Given the description of an element on the screen output the (x, y) to click on. 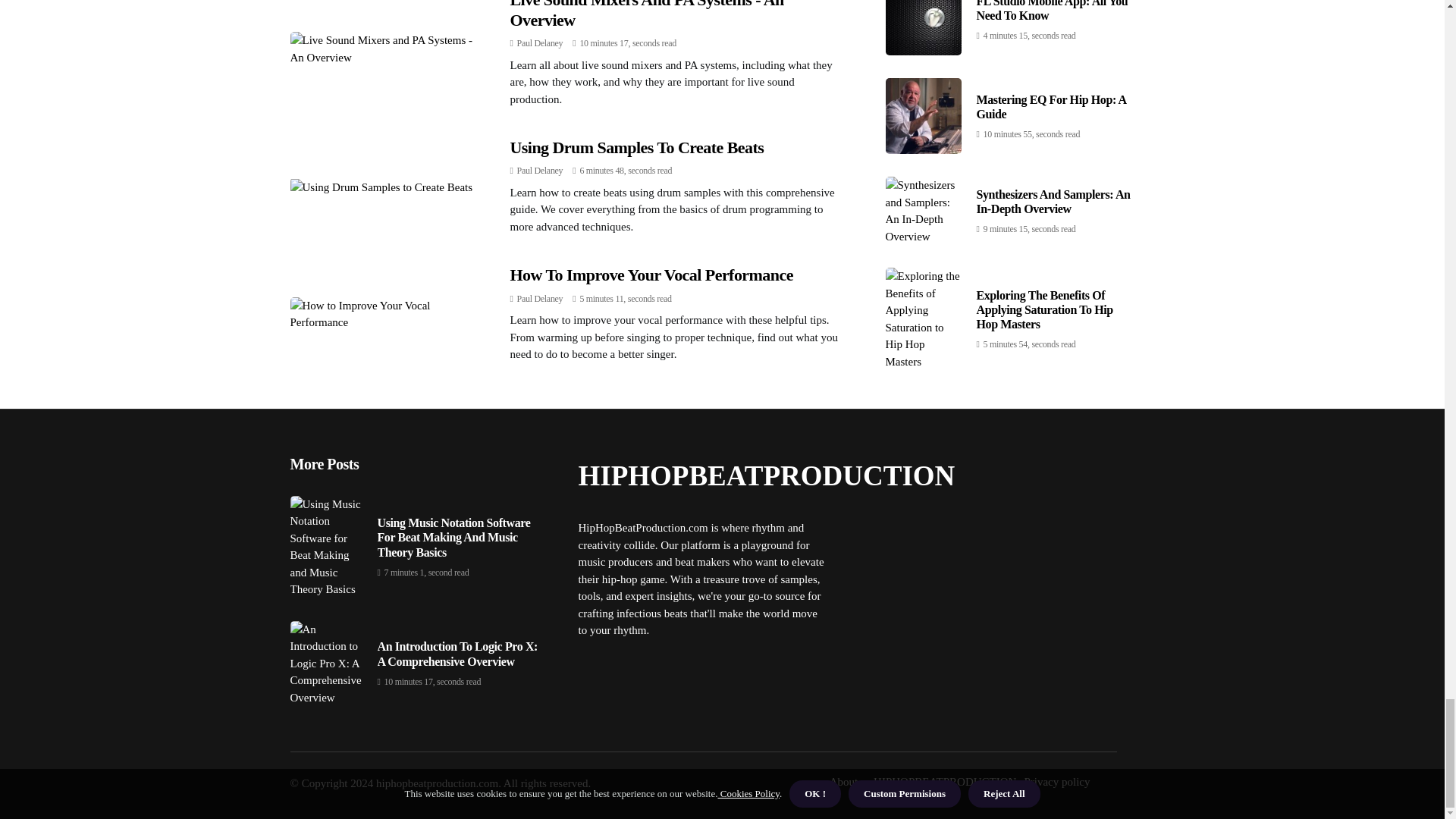
Posts by Paul Delaney (539, 298)
Posts by Paul Delaney (539, 170)
Posts by Paul Delaney (539, 42)
